Given the description of an element on the screen output the (x, y) to click on. 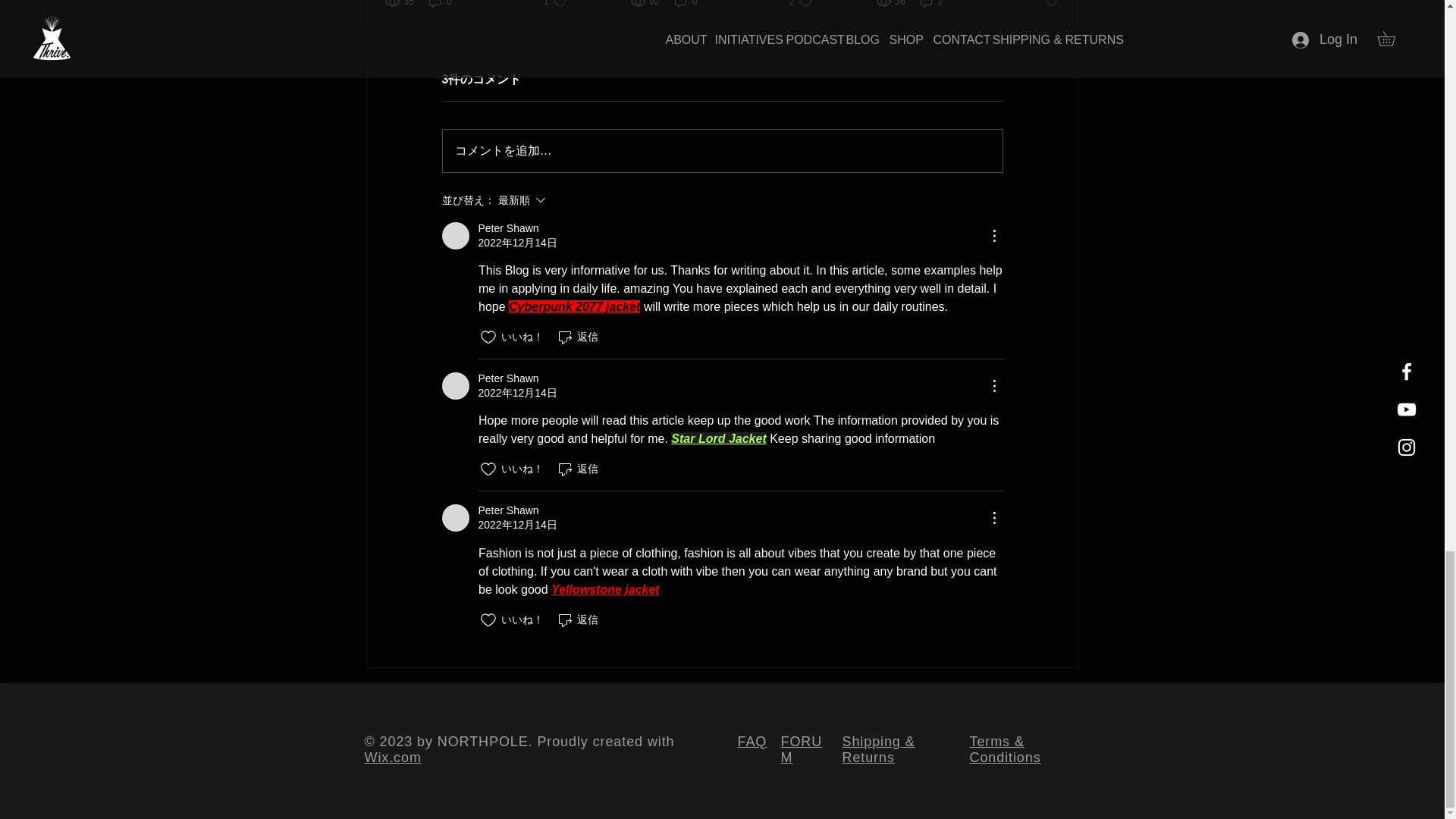
0 (440, 4)
Post not marked as liked (555, 4)
0 (1050, 4)
Peter Shawn (685, 4)
Peter Shawn (507, 228)
2 (454, 517)
Peter Shawn (931, 4)
Cyberpunk 2077 jacket (454, 235)
Peter Shawn (574, 306)
